Given the description of an element on the screen output the (x, y) to click on. 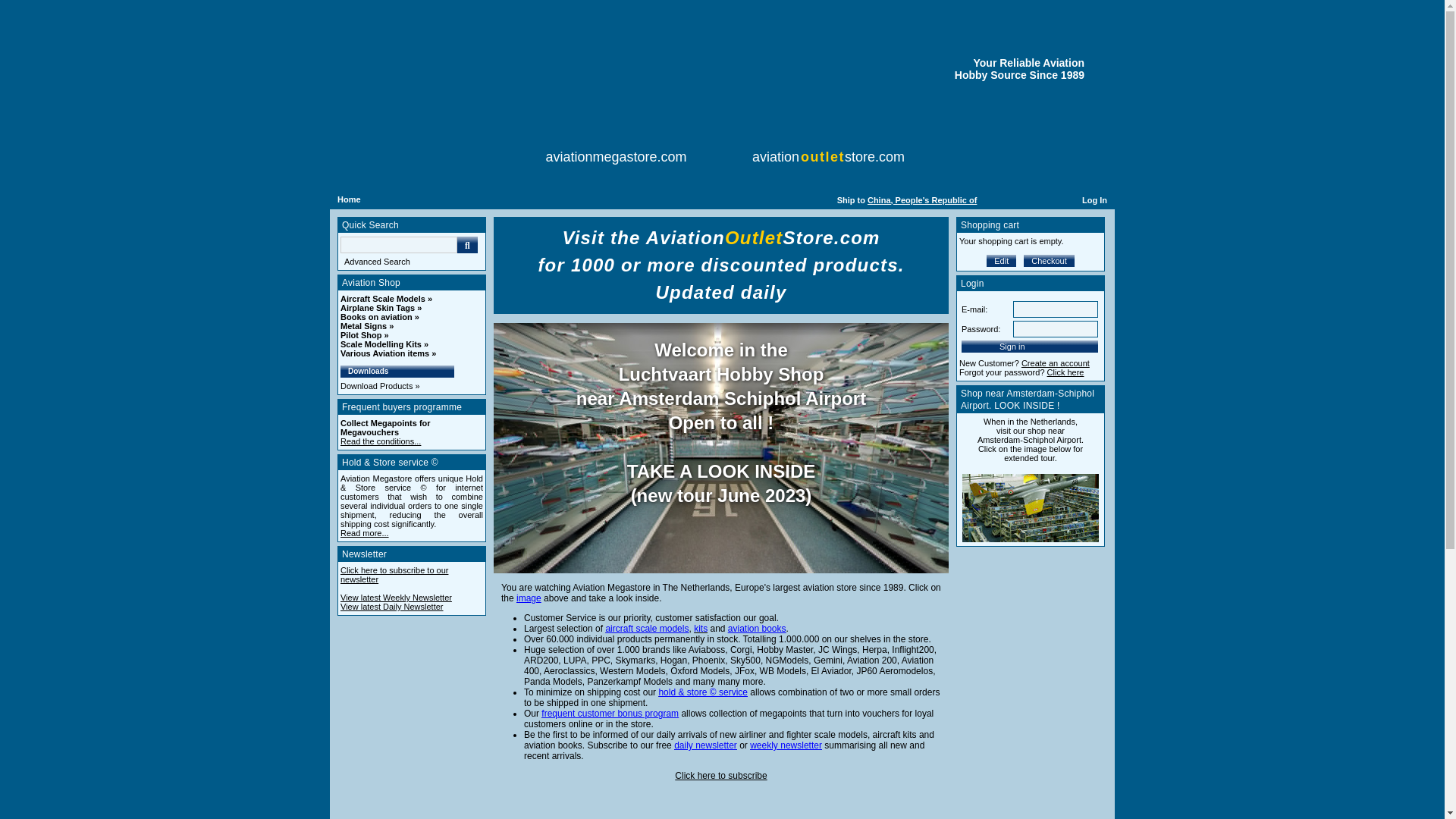
Books on aviation (379, 316)
View latest Weekly Newsletter (395, 596)
daily newsletter (705, 745)
kits (700, 628)
aircraft scale models (646, 628)
Click here to subscribe (721, 775)
Download Products (380, 385)
Edit (1001, 260)
Read more... (364, 532)
Welcome in the (720, 349)
